Given the description of an element on the screen output the (x, y) to click on. 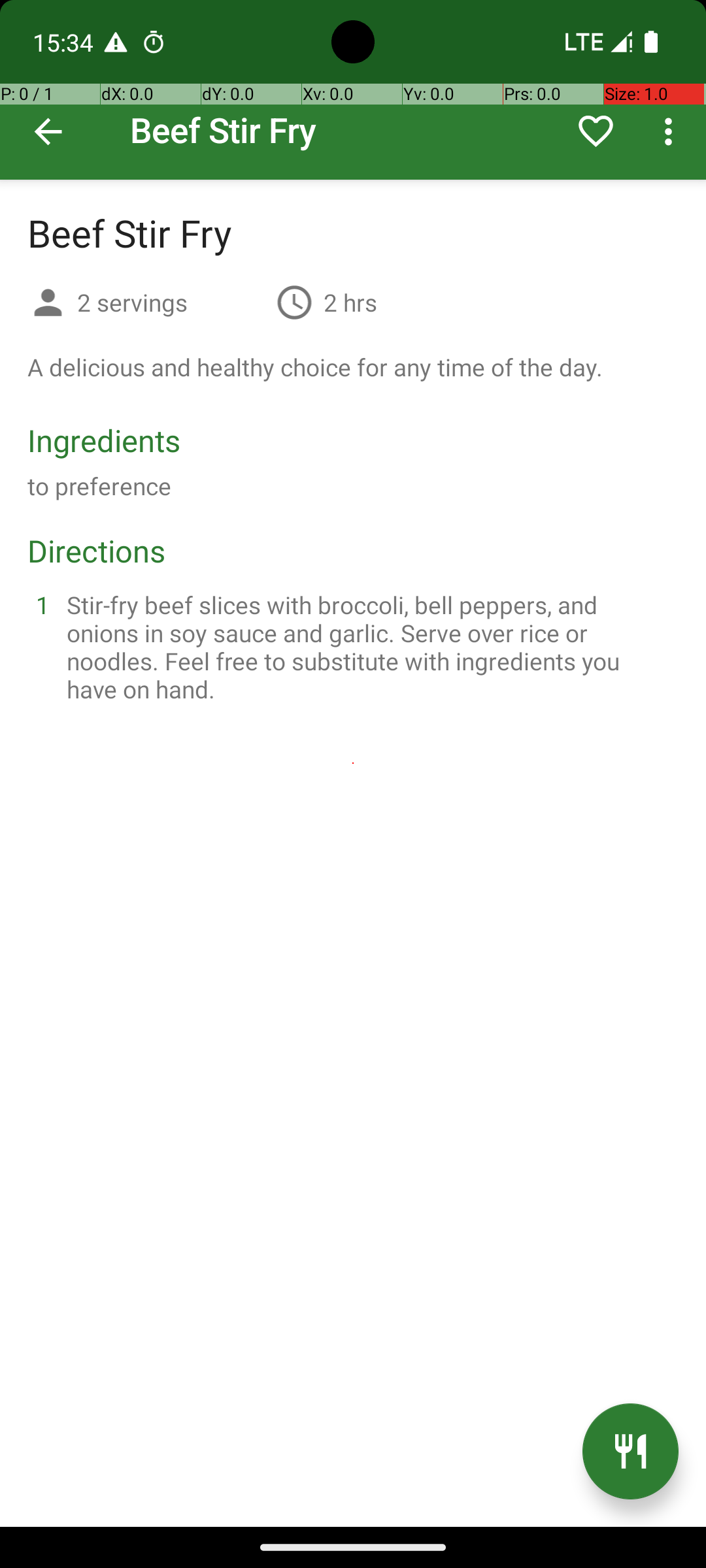
2 servings Element type: android.widget.TextView (170, 301)
2 hrs Element type: android.widget.TextView (350, 301)
to preference Element type: android.widget.TextView (99, 485)
Stir-fry beef slices with broccoli, bell peppers, and onions in soy sauce and garlic. Serve over rice or noodles. Feel free to substitute with ingredients you have on hand. Element type: android.widget.TextView (368, 646)
